Given the description of an element on the screen output the (x, y) to click on. 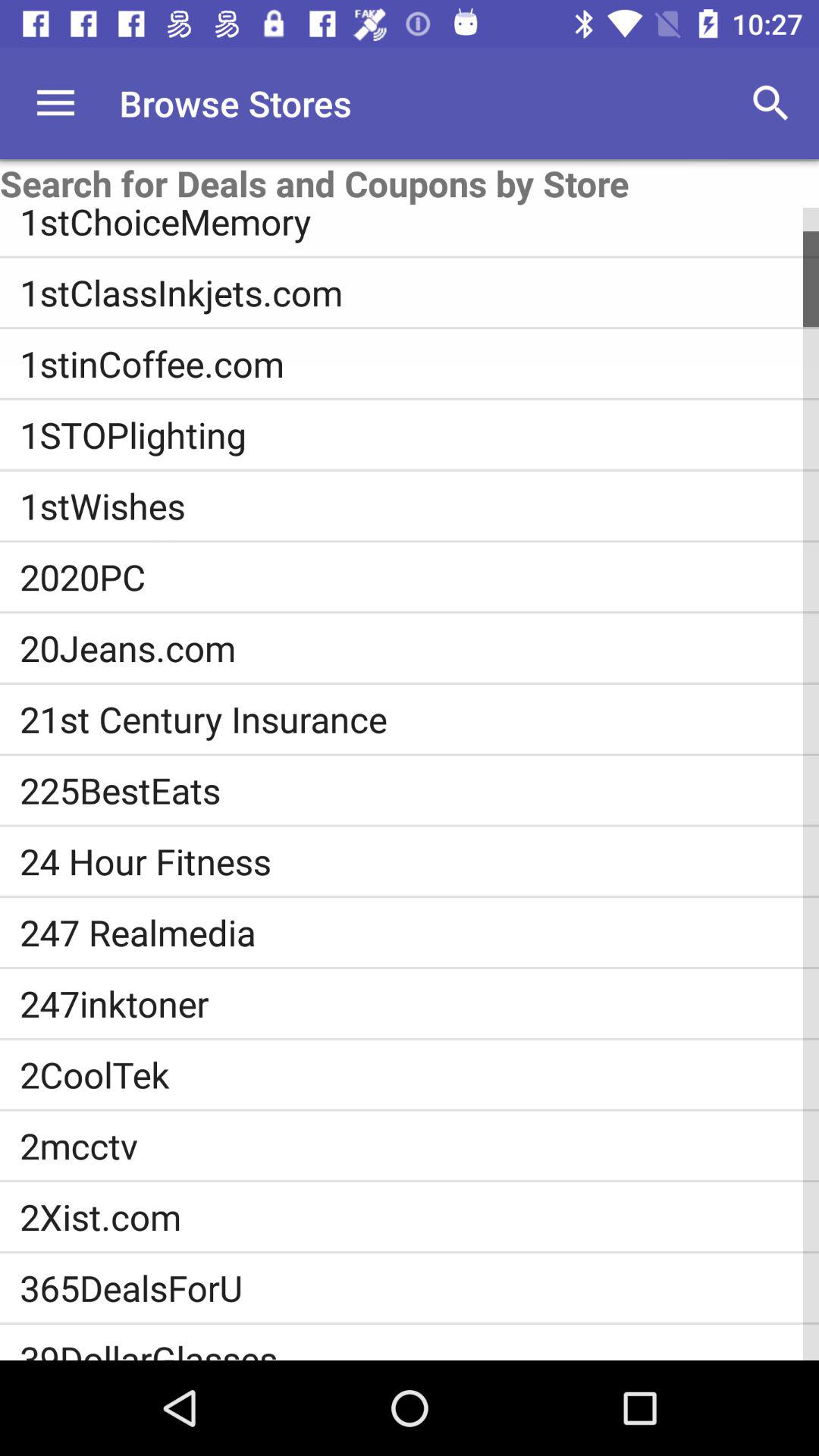
scroll to 2020pc item (419, 576)
